Given the description of an element on the screen output the (x, y) to click on. 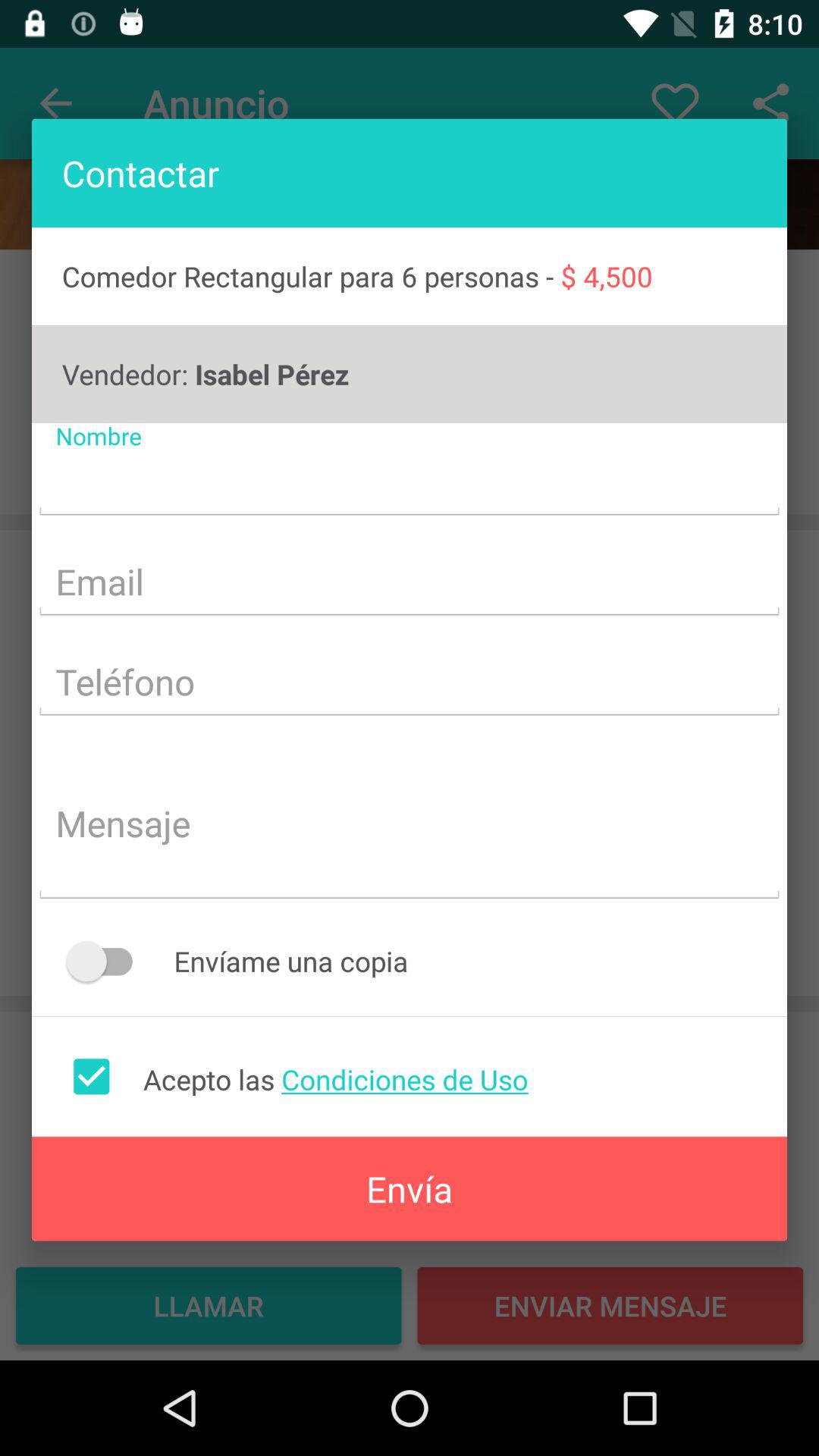
unaccept the policy (91, 1076)
